Given the description of an element on the screen output the (x, y) to click on. 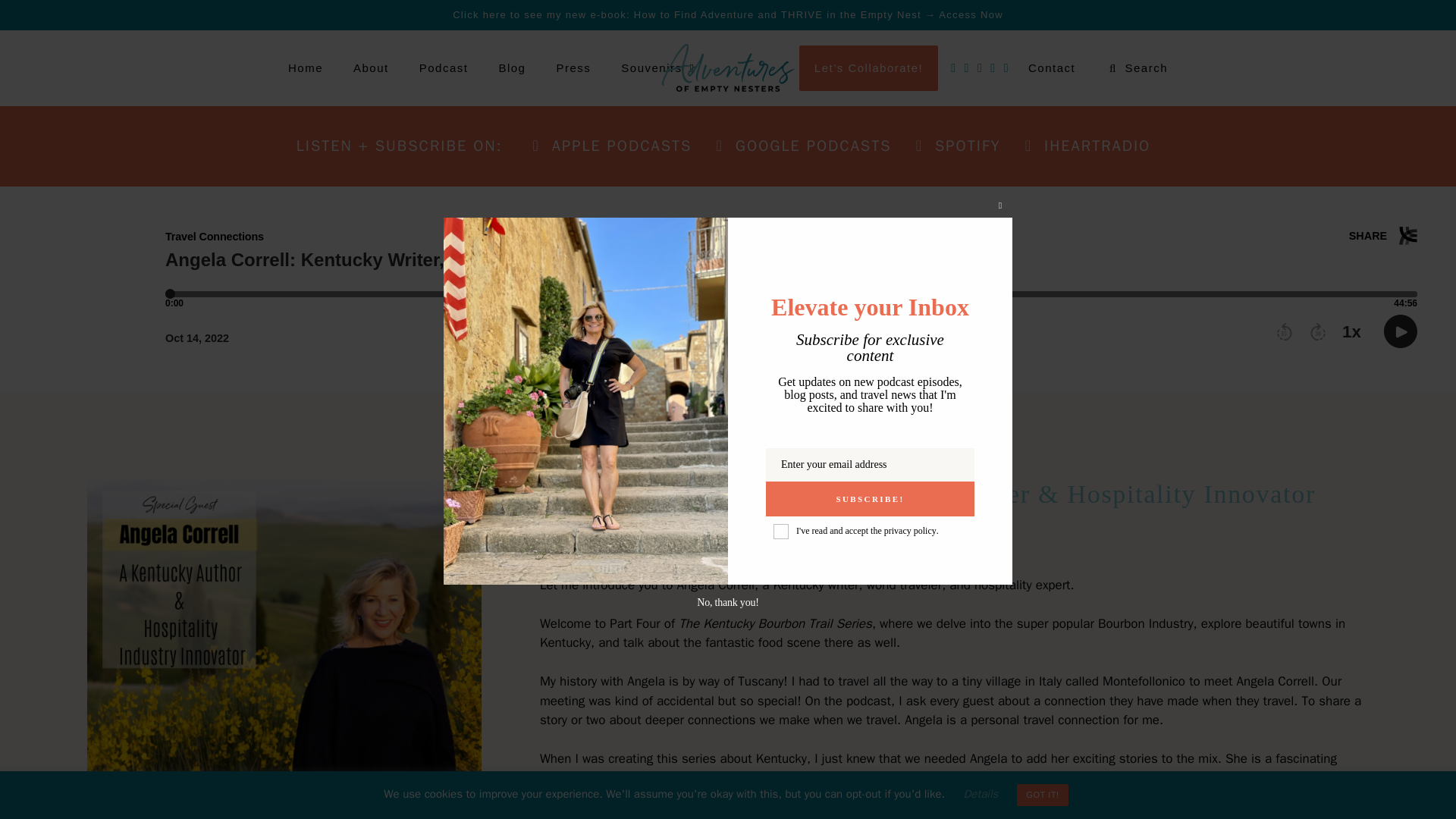
Home (305, 67)
About (370, 67)
Press (572, 67)
Podcast (443, 67)
Souvenirs (659, 67)
Access Now (971, 14)
Contact (1051, 67)
Menu Separator (756, 67)
Blog (511, 67)
